Given the description of an element on the screen output the (x, y) to click on. 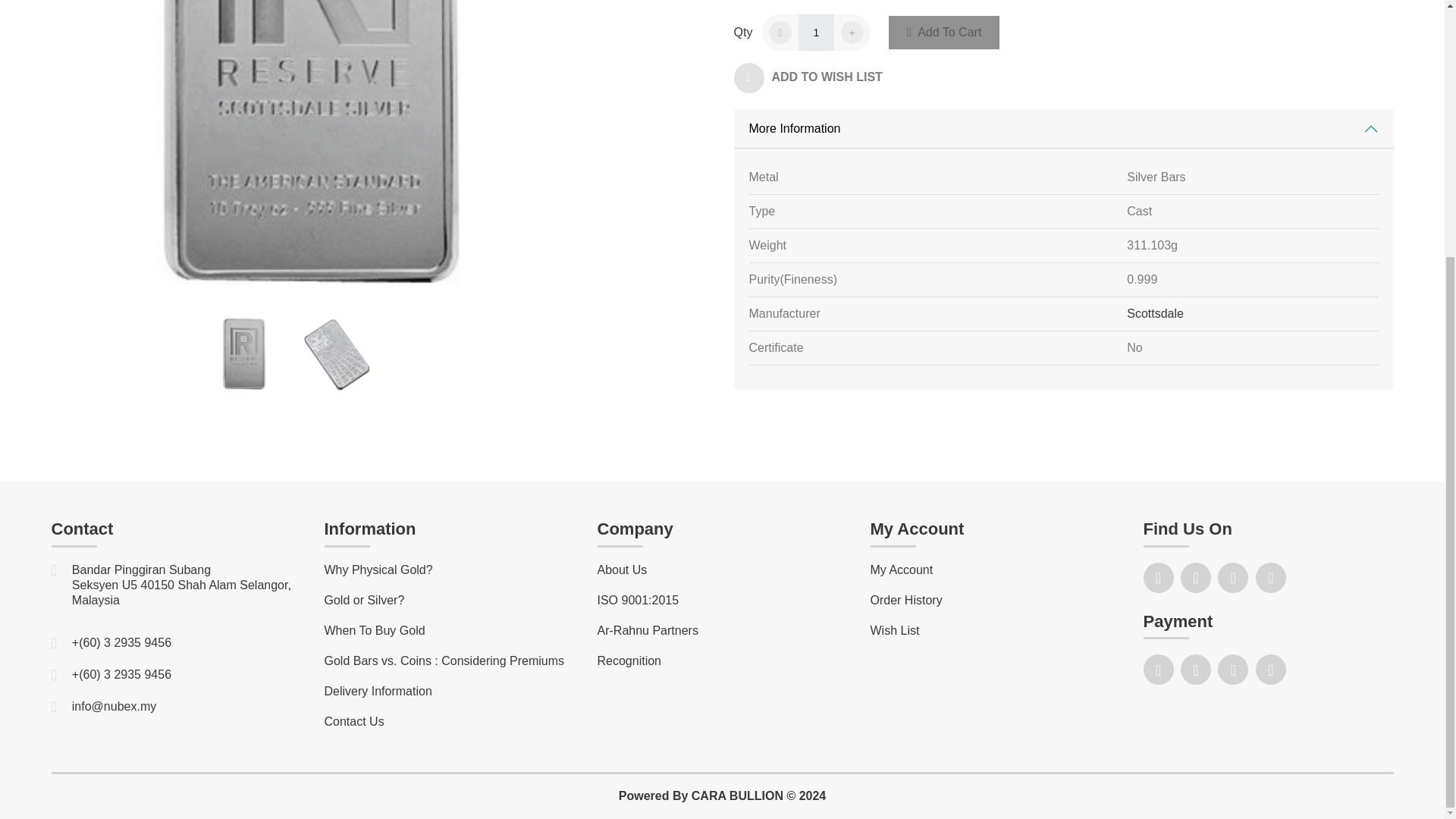
ADD TO WISH LIST (815, 80)
More Information (1063, 128)
Add to Wish List (815, 80)
Add To Cart (943, 32)
1 (815, 32)
Scottsdale (1154, 313)
